Given the description of an element on the screen output the (x, y) to click on. 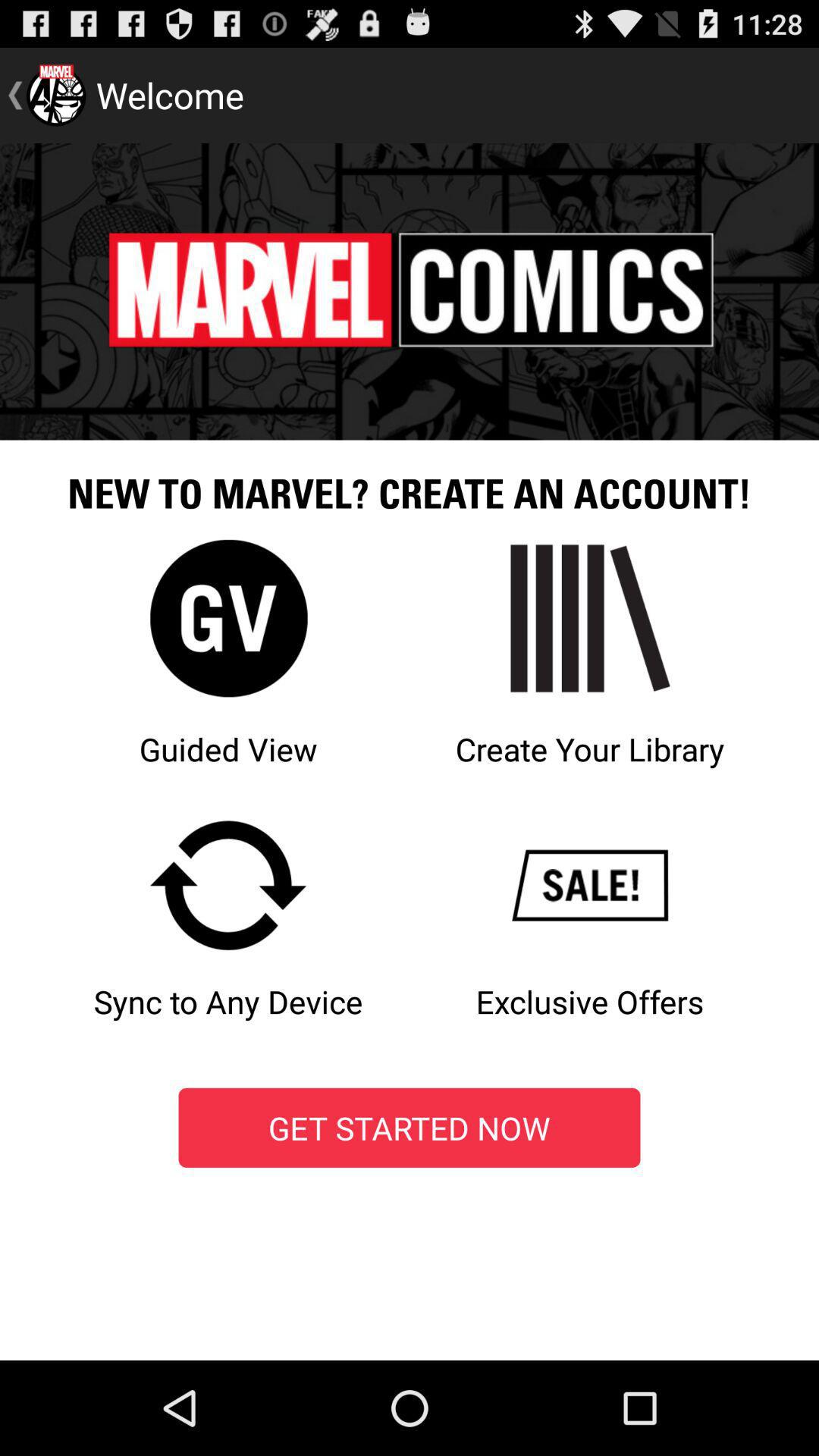
turn off the icon at the bottom (409, 1127)
